Given the description of an element on the screen output the (x, y) to click on. 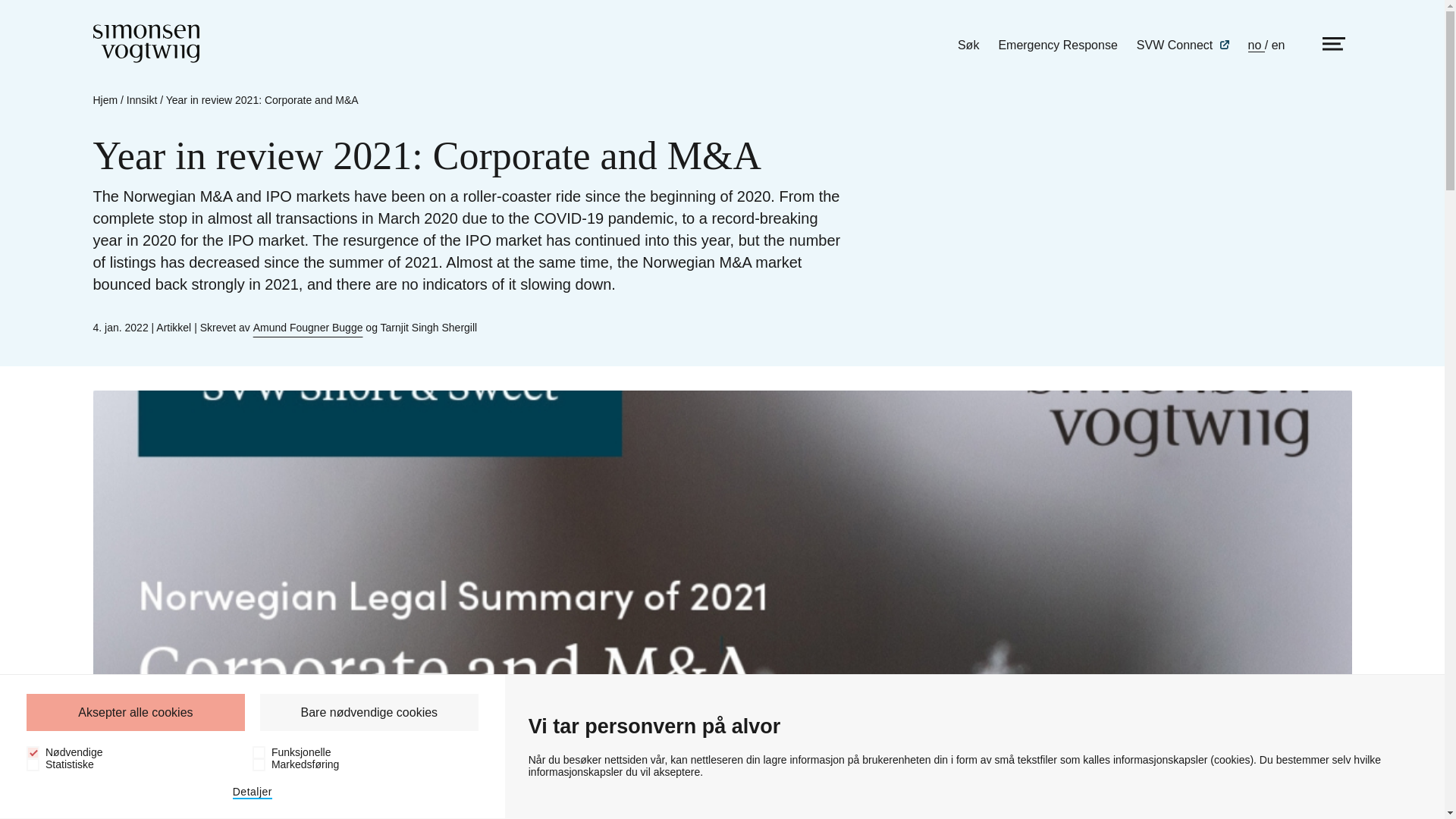
Detaljer (252, 792)
SVW Connect (1182, 44)
en (1278, 44)
no (1256, 45)
Emergency Response (1056, 44)
Aksepter alle cookies (135, 712)
